Given the description of an element on the screen output the (x, y) to click on. 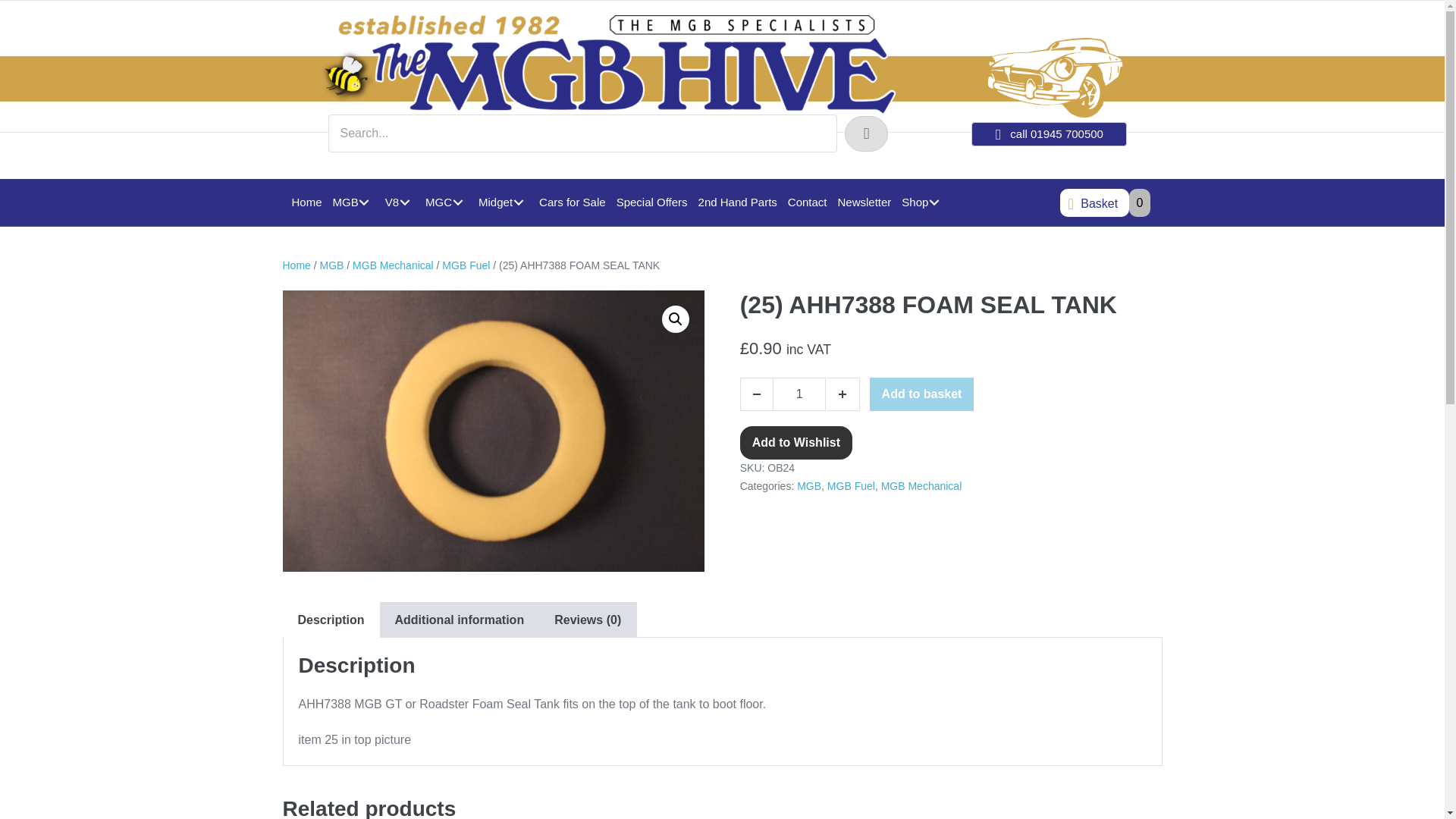
mgb-illustration (1055, 77)
mgb-hive-logo (607, 64)
call 01945 700500 (1048, 134)
1 (799, 394)
Click Here (866, 133)
MGB (353, 202)
ahh7388-foam-seal-tank-1423516952.jpg (493, 431)
View your shopping cart (1093, 203)
Home (306, 202)
